Given the description of an element on the screen output the (x, y) to click on. 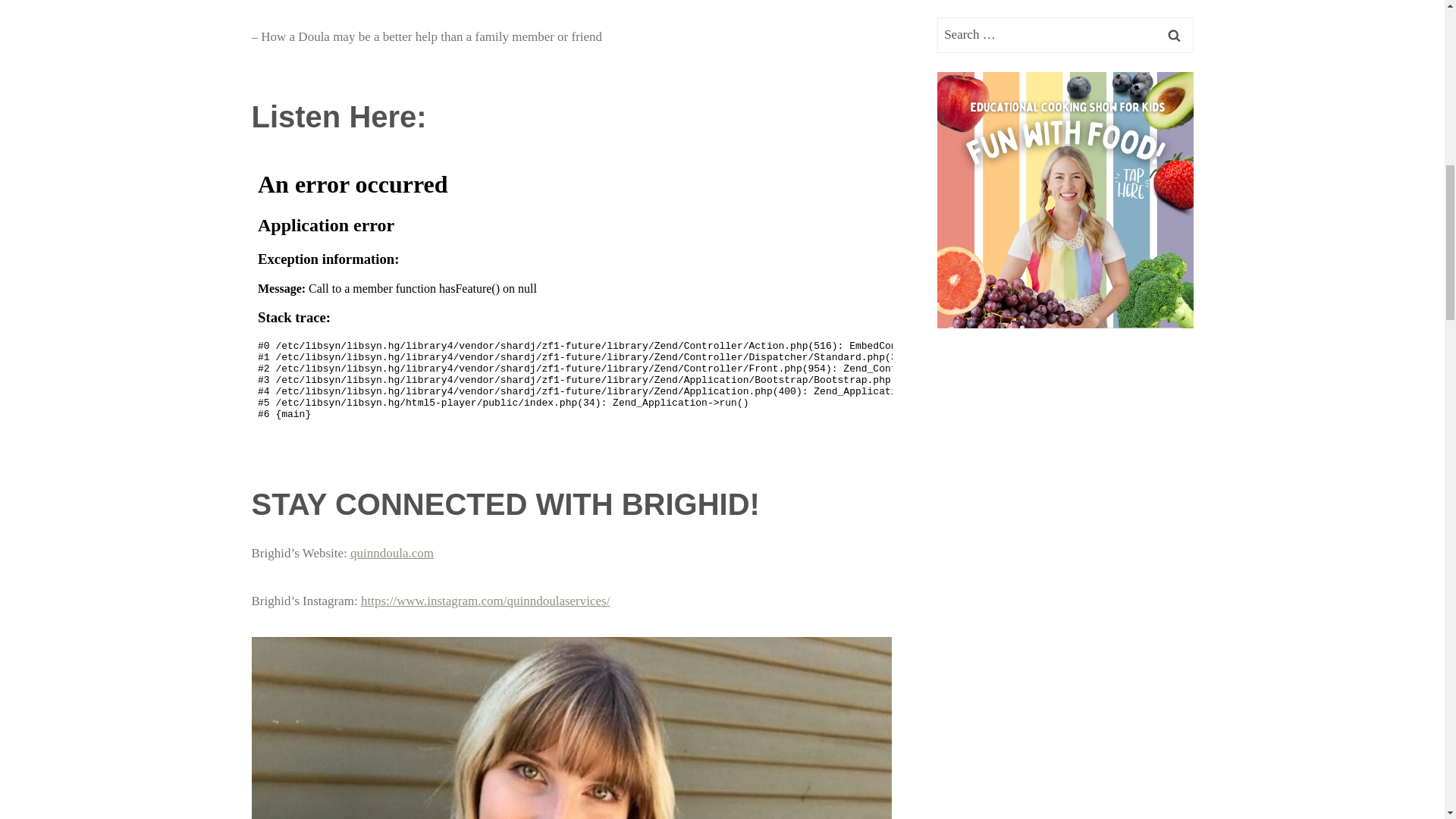
Search (1174, 34)
Search (1174, 34)
